Given the description of an element on the screen output the (x, y) to click on. 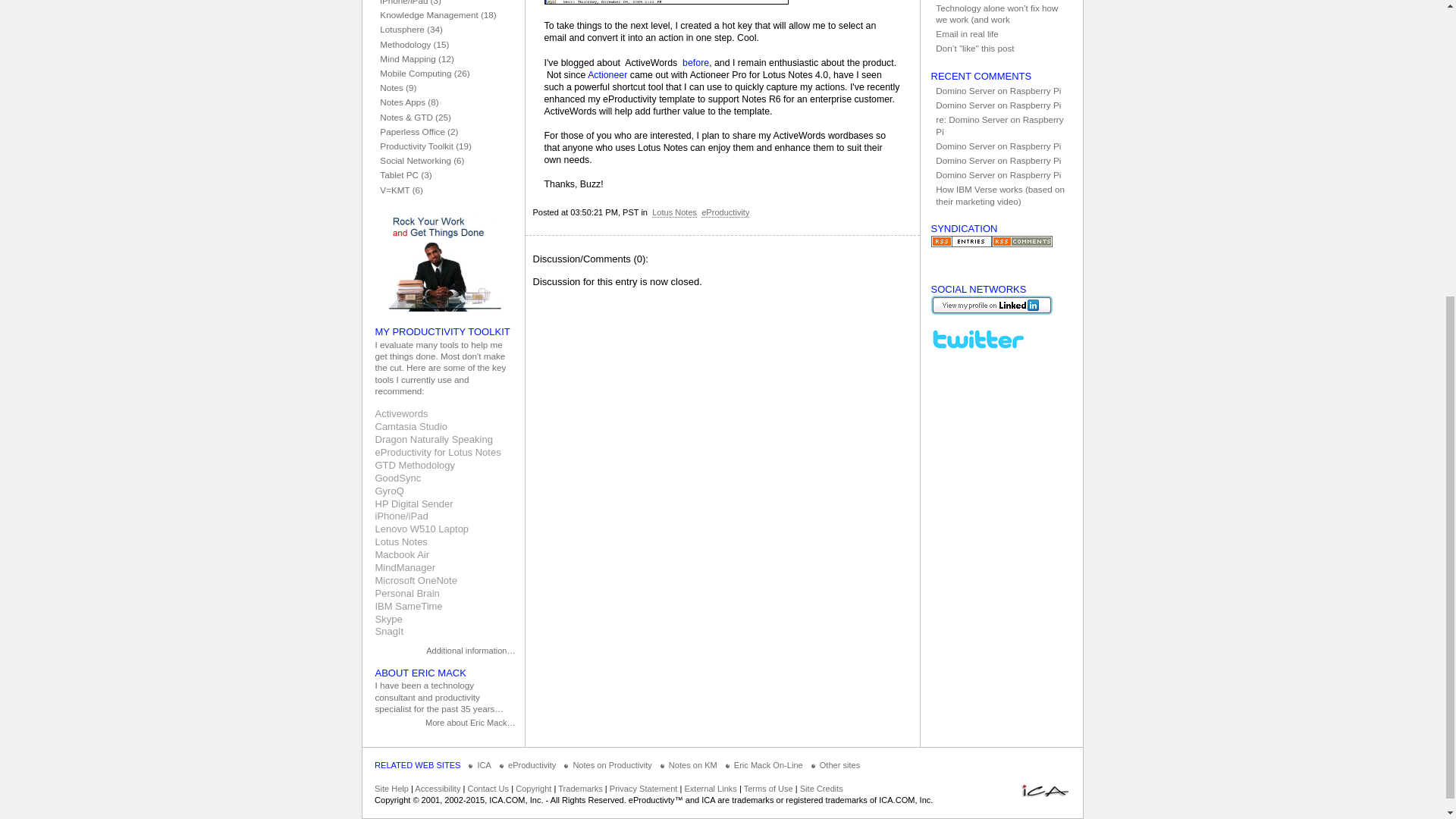
Category: Lotus Notes (674, 212)
Lotus Notes (674, 212)
before (695, 62)
eProductivity (725, 212)
Category: eProductivity (725, 212)
Actioneer (607, 74)
